Given the description of an element on the screen output the (x, y) to click on. 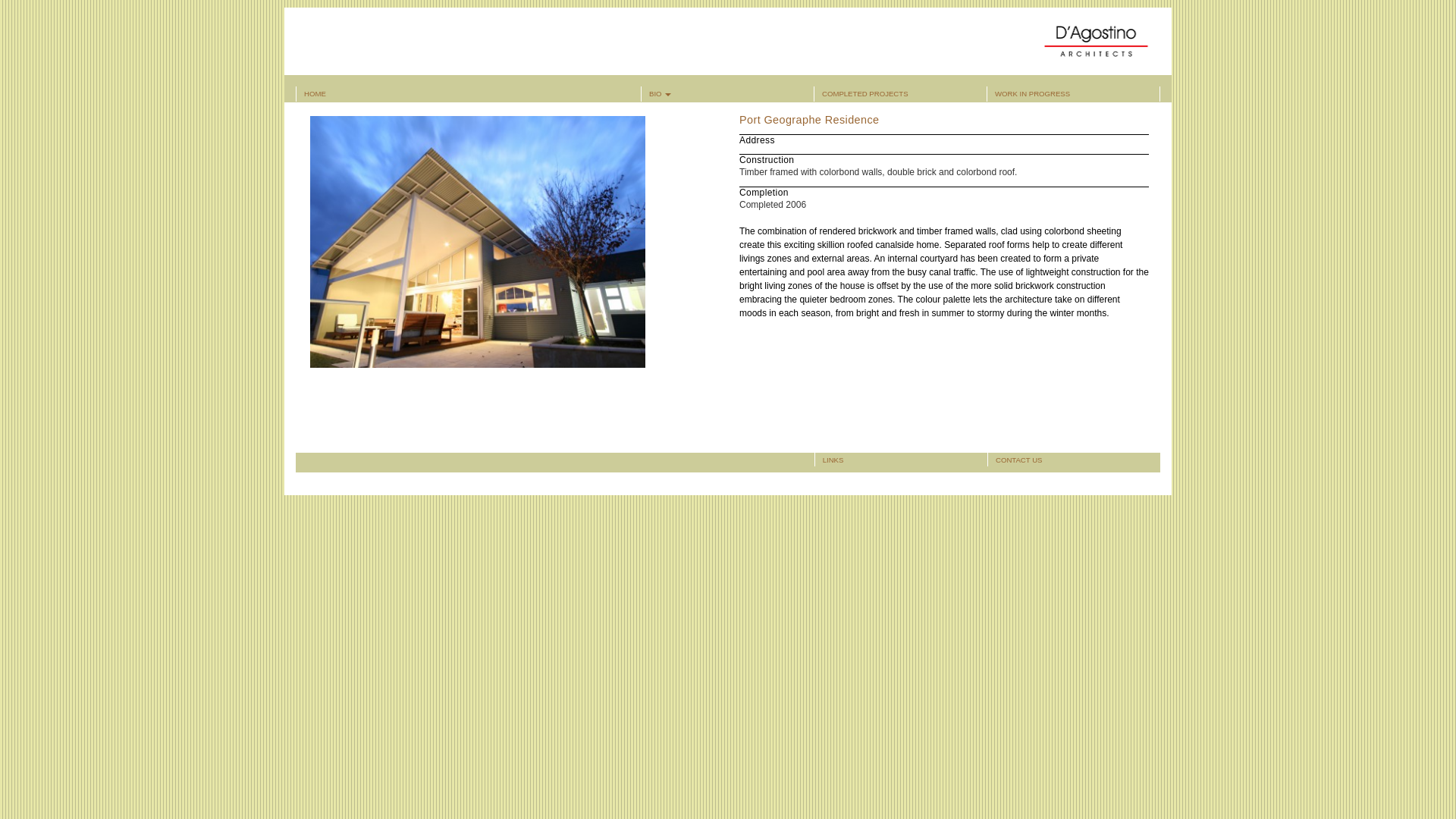
COMPLETED PROJECTS (900, 93)
BIO (727, 93)
Bio (727, 93)
CONTACT US (1018, 459)
HOME (468, 93)
LINKS (833, 459)
WORK IN PROGRESS (1072, 93)
Home (468, 93)
Work in Progress (1072, 93)
Completed Projects (900, 93)
